Given the description of an element on the screen output the (x, y) to click on. 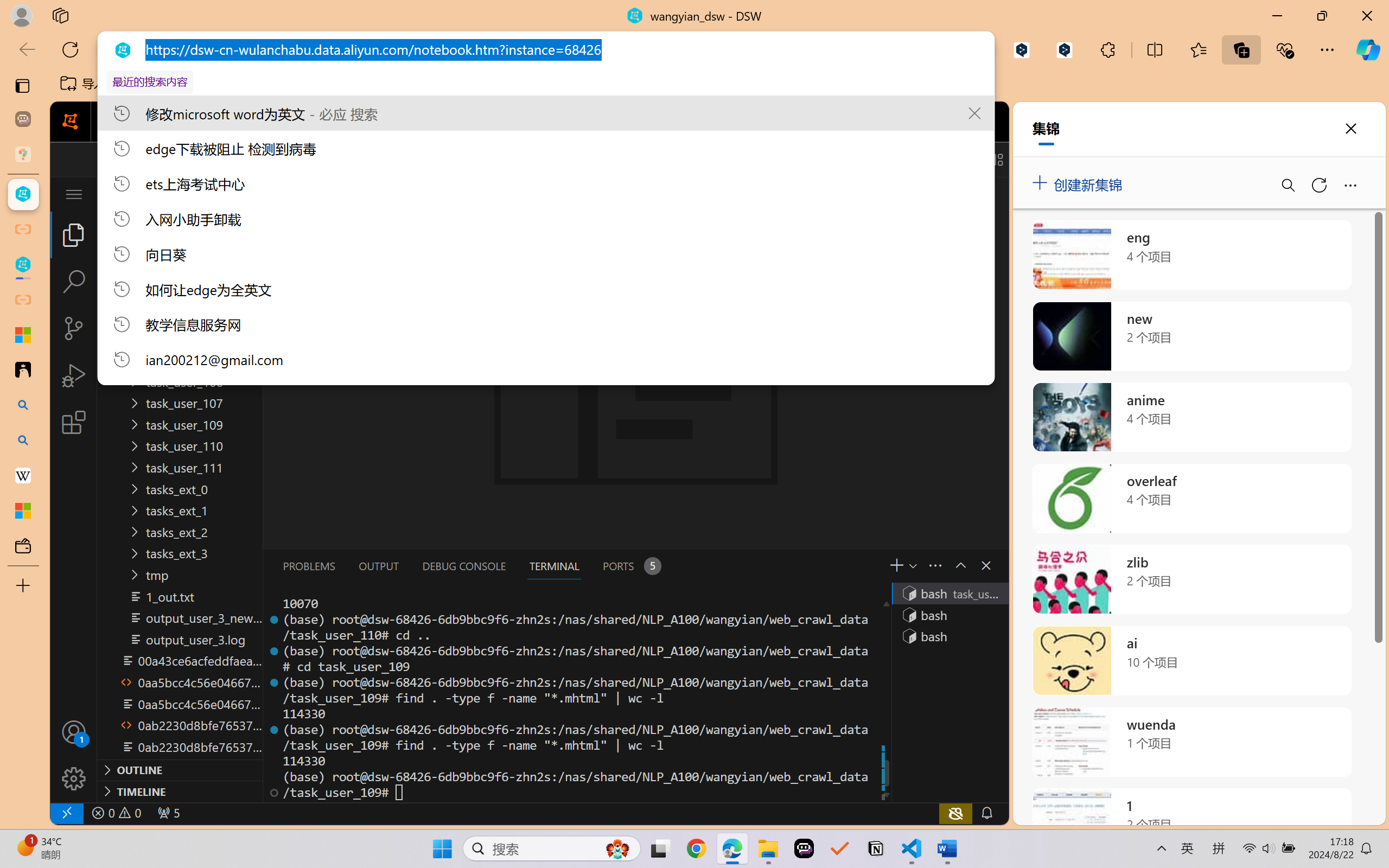
Toggle Panel (Ctrl+J) (944, 159)
Outline Section (179, 769)
wangyian_dsw - DSW (22, 194)
Run and Debug (Ctrl+Shift+D) (73, 375)
Close Panel (986, 565)
Maximize Panel Size (959, 565)
